Given the description of an element on the screen output the (x, y) to click on. 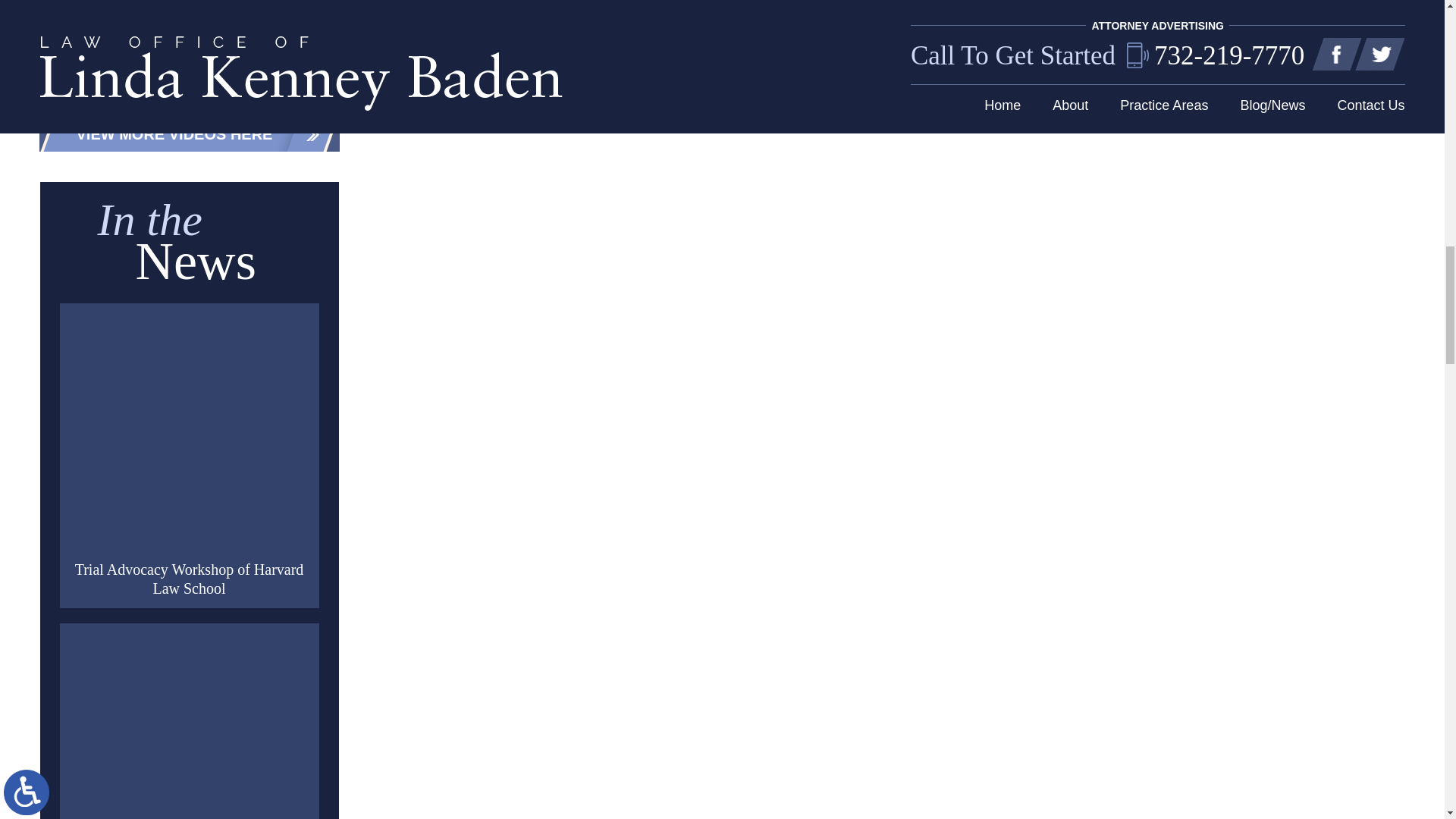
previous (218, 84)
In the News (188, 726)
Harvard Law School Trial Advocacy Workshop (188, 432)
next (234, 84)
